Given the description of an element on the screen output the (x, y) to click on. 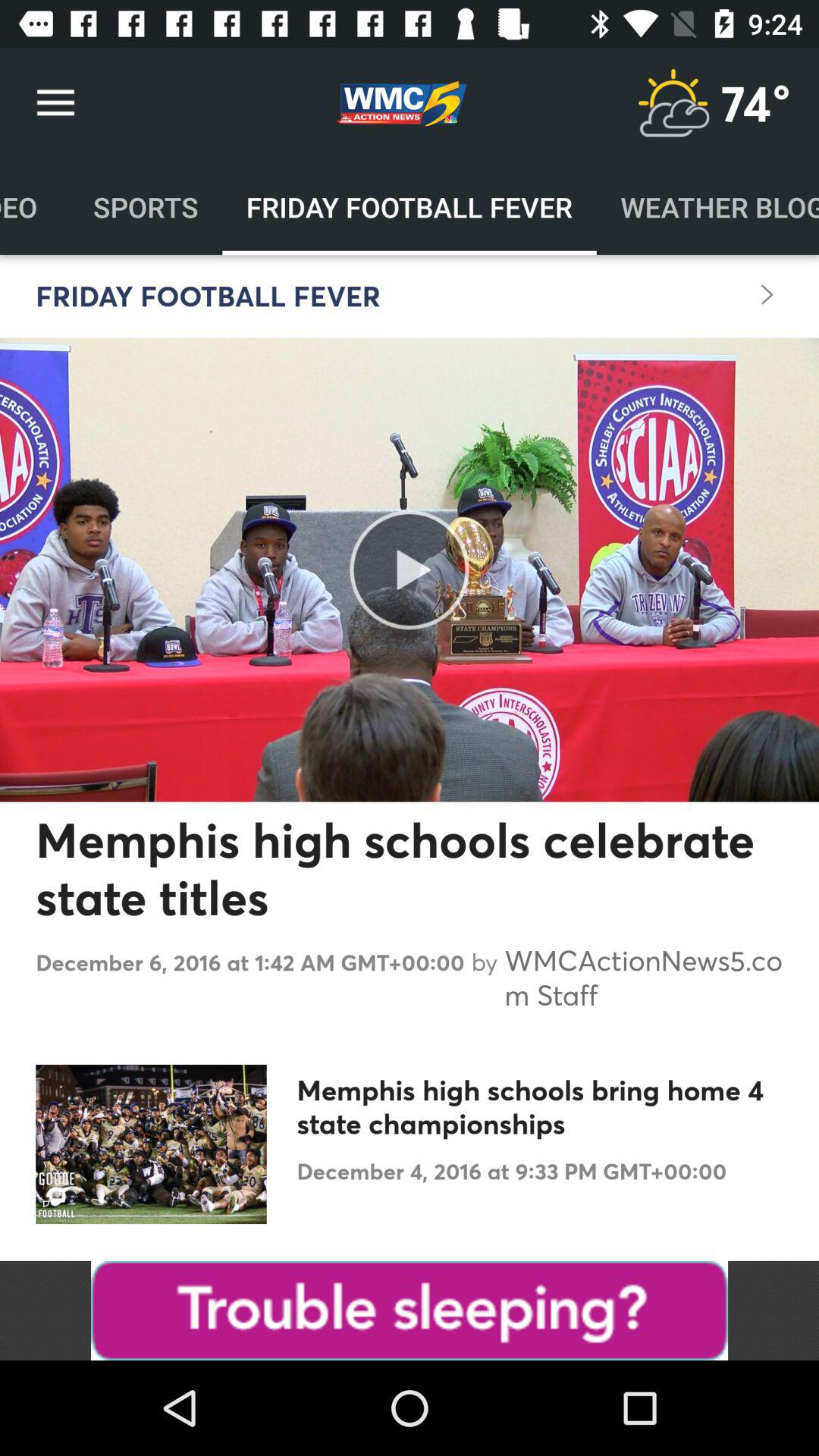
weather (673, 103)
